Given the description of an element on the screen output the (x, y) to click on. 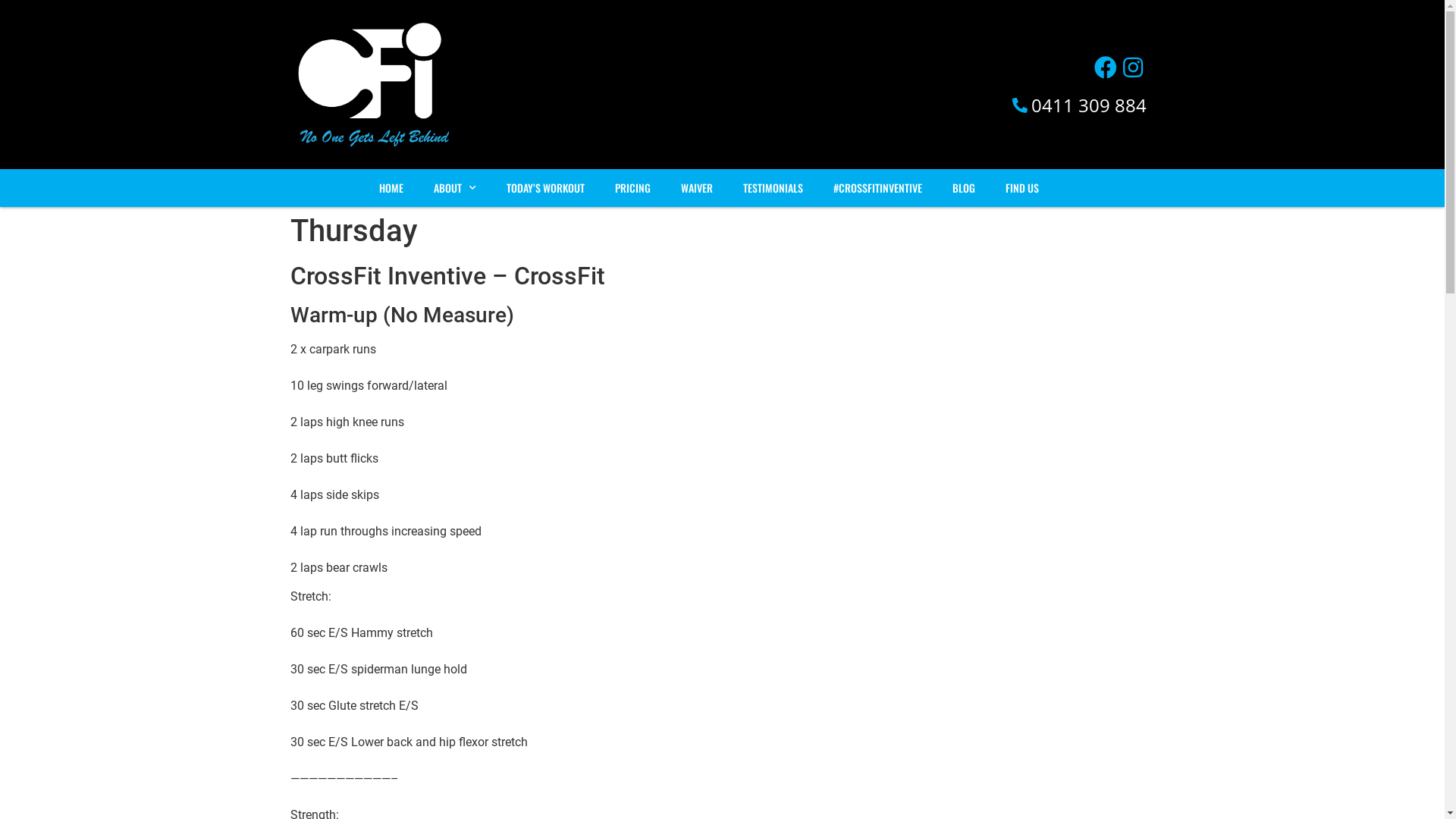
WAIVER Element type: text (696, 188)
PRICING Element type: text (632, 188)
BLOG Element type: text (963, 188)
ABOUT Element type: text (454, 188)
#CROSSFITINVENTIVE Element type: text (877, 188)
FIND US Element type: text (1022, 188)
TESTIMONIALS Element type: text (773, 188)
HOME Element type: text (391, 188)
0411 309 884 Element type: text (805, 105)
